Given the description of an element on the screen output the (x, y) to click on. 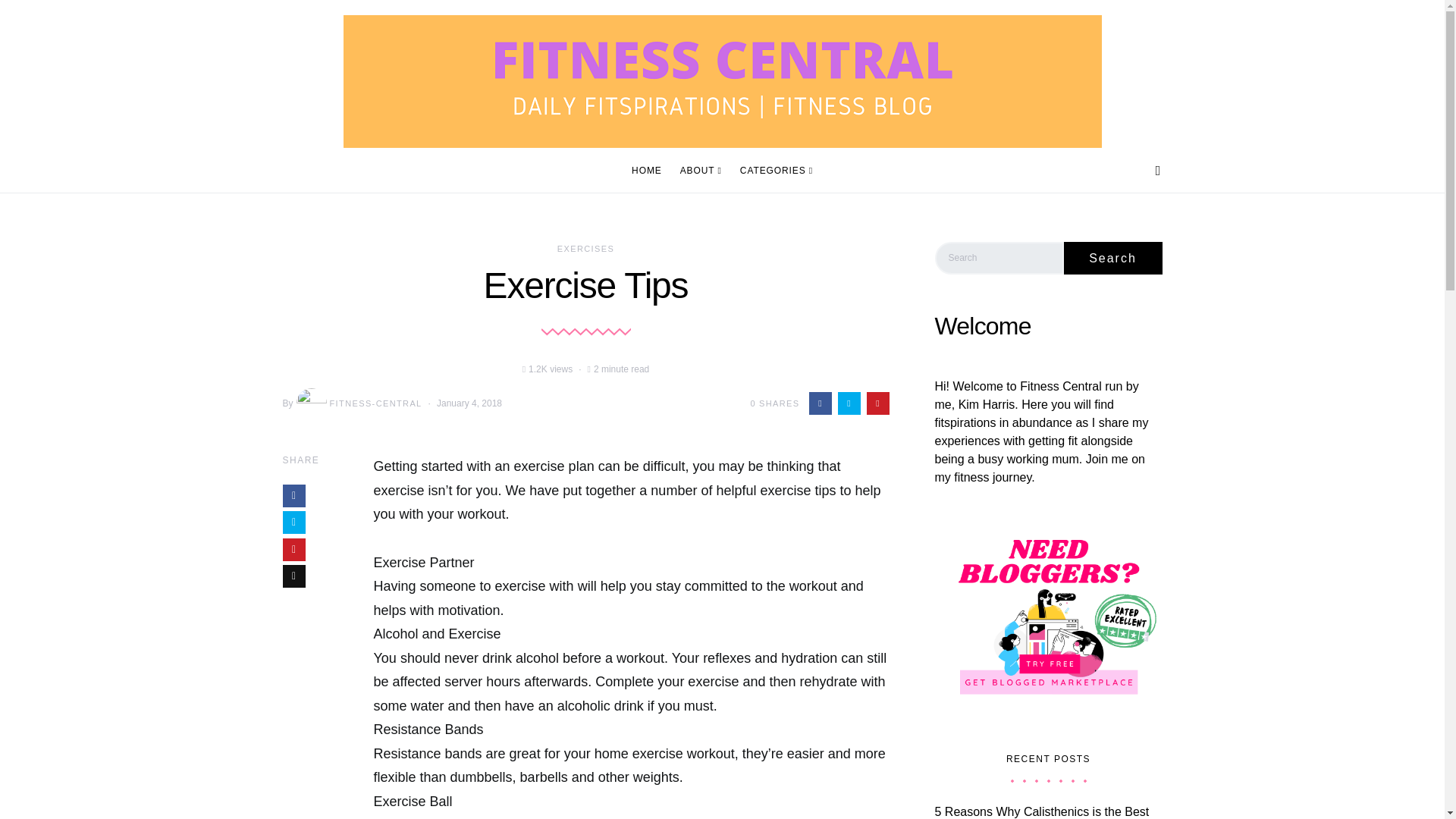
CATEGORIES (771, 169)
View all posts by fitness-central (358, 403)
EXERCISES (585, 248)
FITNESS-CENTRAL (358, 403)
ABOUT (700, 169)
